Given the description of an element on the screen output the (x, y) to click on. 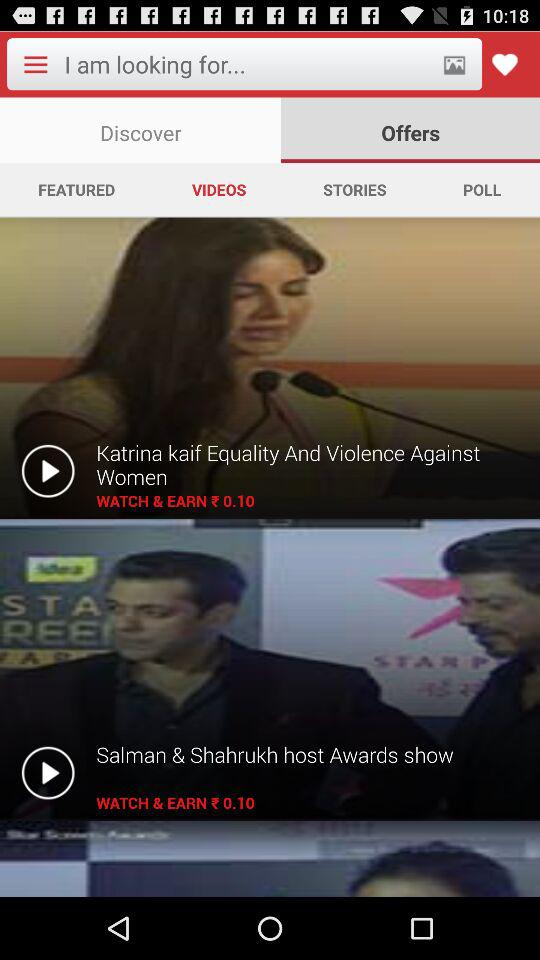
swipe until discover app (140, 130)
